Given the description of an element on the screen output the (x, y) to click on. 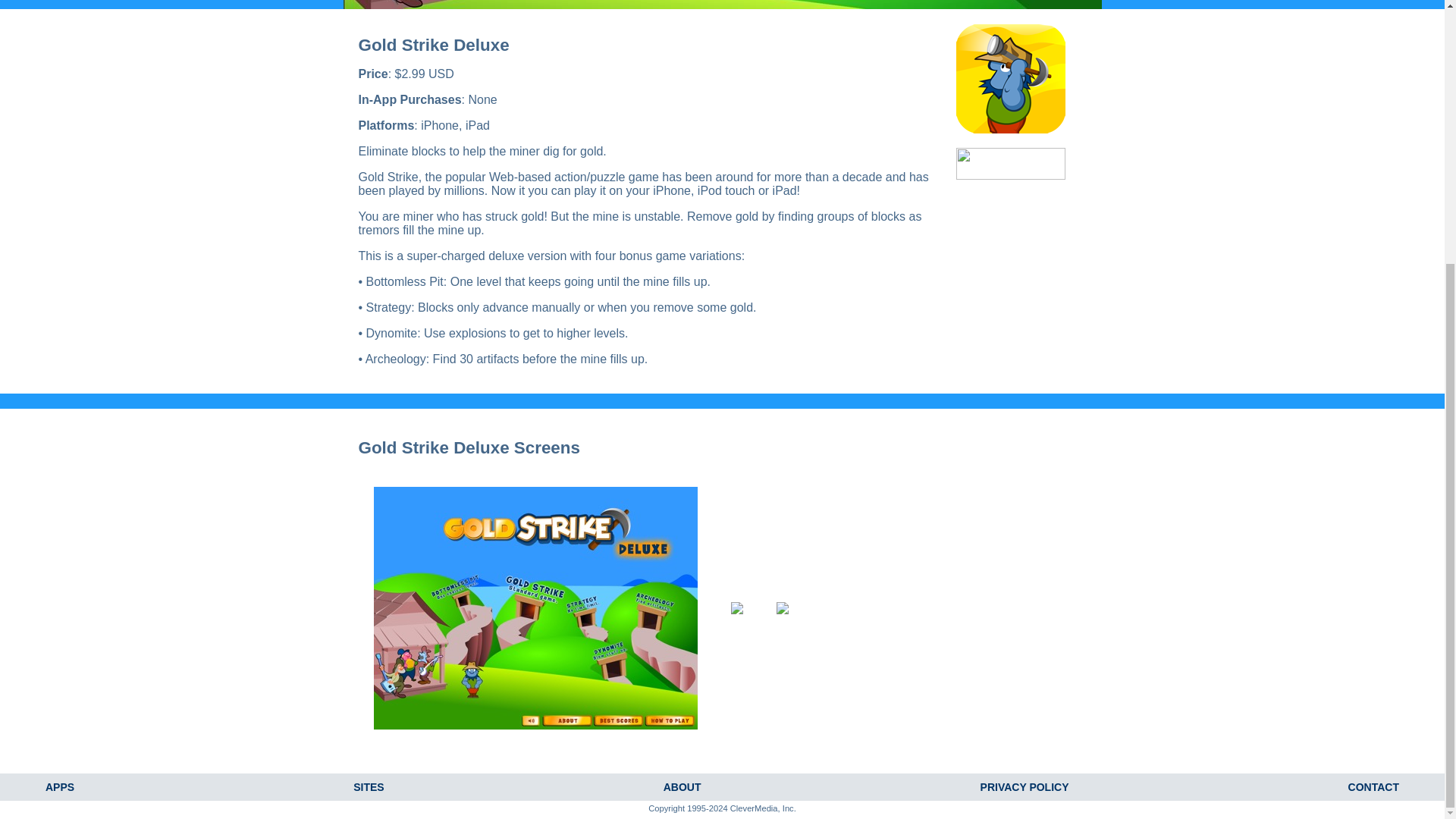
SITES (368, 787)
PRIVACY POLICY (1023, 787)
APPS (59, 787)
ABOUT (682, 787)
CONTACT (1373, 787)
